Given the description of an element on the screen output the (x, y) to click on. 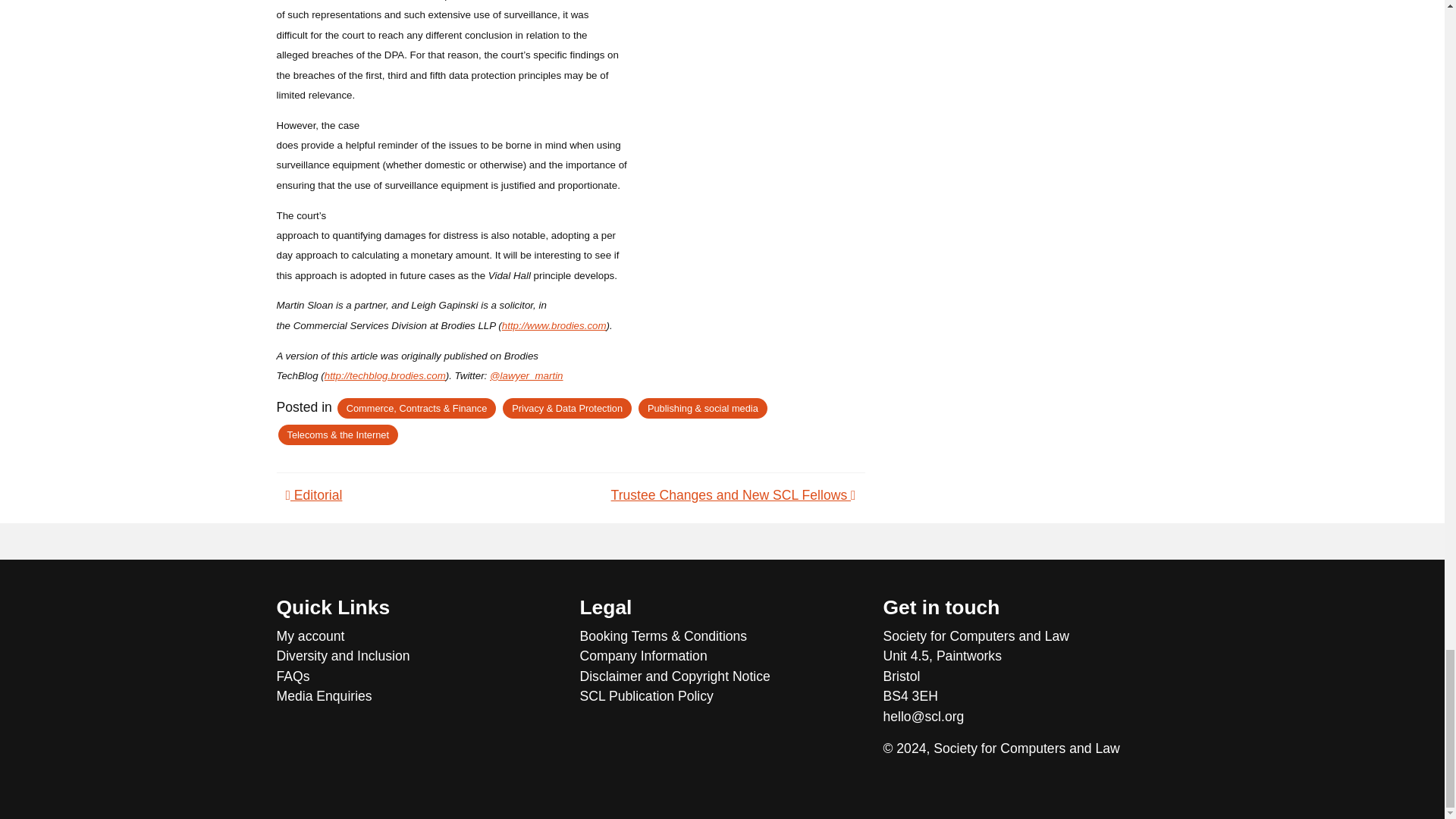
Media Enquiries (418, 695)
Trustee Changes and New SCL Fellows  (733, 494)
Company Information (721, 655)
 Editorial (313, 494)
My account (418, 636)
FAQs (418, 676)
Diversity and Inclusion (418, 655)
